Given the description of an element on the screen output the (x, y) to click on. 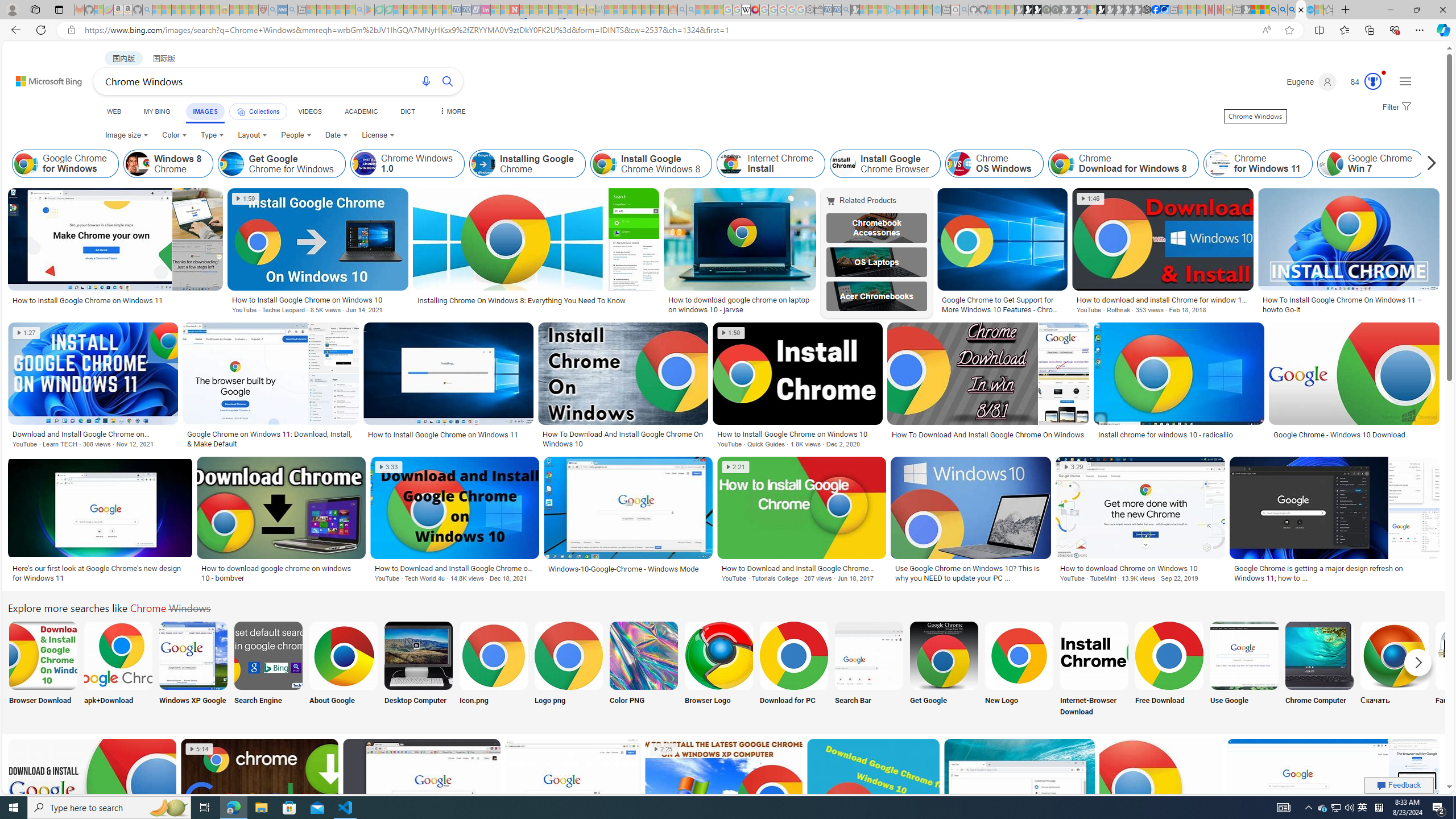
1:46 (1090, 198)
Get Google Chrome for Windows (231, 163)
Chrome Internet Browser Download (1093, 654)
How To Download And Install Google Chrome On Windows 10 (623, 438)
Address and search bar (669, 29)
App bar (728, 29)
DICT (407, 111)
